Given the description of an element on the screen output the (x, y) to click on. 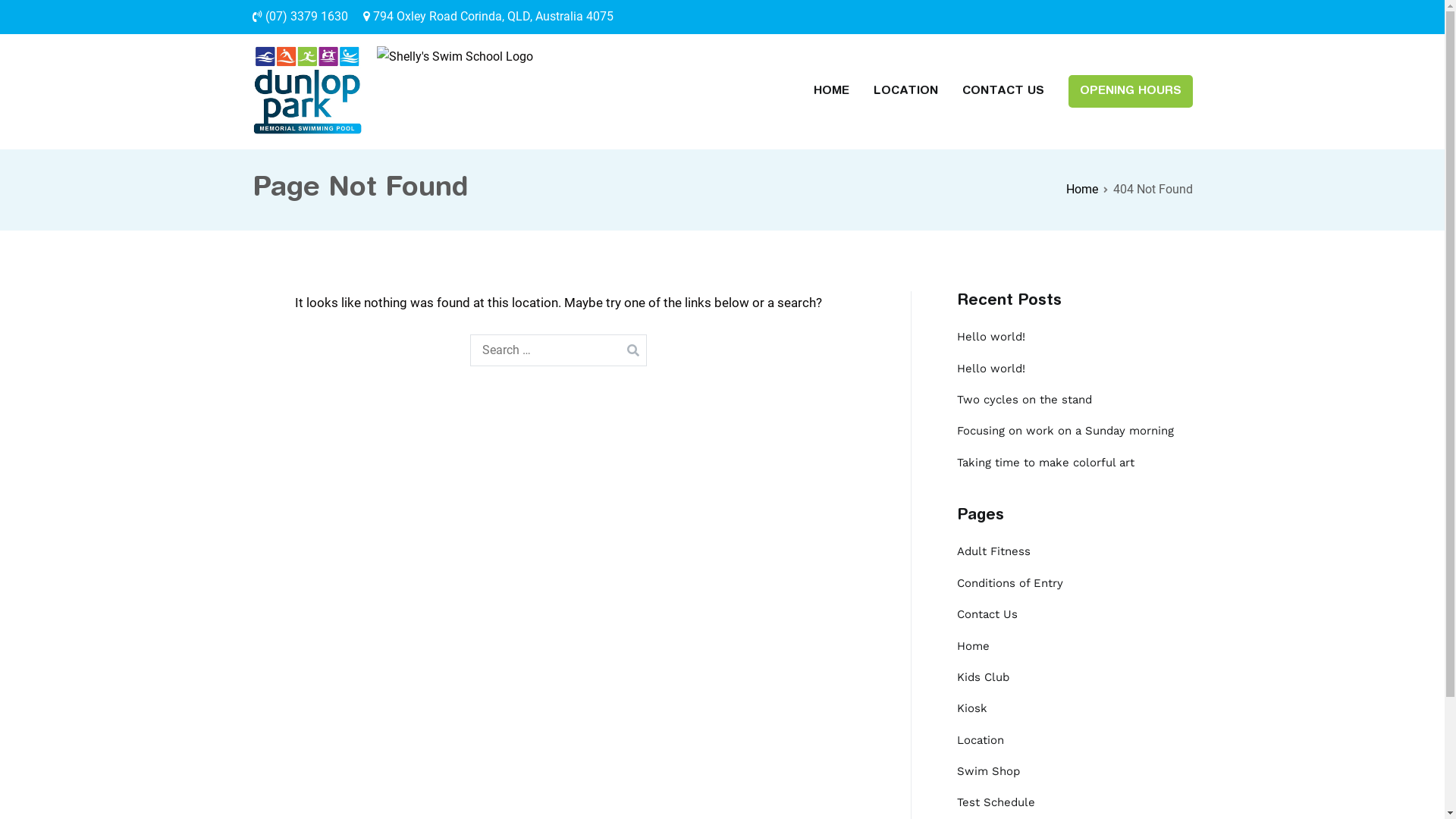
Home Element type: text (1082, 189)
LOCATION Element type: text (905, 91)
Hello world! Element type: text (991, 336)
Two cycles on the stand Element type: text (1024, 399)
Conditions of Entry Element type: text (1010, 583)
Location Element type: text (980, 740)
Home Element type: text (973, 645)
794 Oxley Road Corinda, QLD, Australia 4075 Element type: text (487, 16)
Contact Us Element type: text (987, 614)
Kiosk Element type: text (972, 708)
Kids Club Element type: text (983, 677)
Swim Shop Element type: text (988, 771)
Test Schedule Element type: text (996, 802)
Dunlop Park Element type: text (571, 100)
Search Element type: text (29, 14)
HOME Element type: text (830, 91)
Focusing on work on a Sunday morning Element type: text (1065, 430)
Taking time to make colorful art Element type: text (1045, 461)
OPENING HOURS Element type: text (1129, 91)
CONTACT US Element type: text (1002, 91)
Hello world! Element type: text (991, 367)
Adult Fitness Element type: text (993, 551)
(07) 3379 1630 Element type: text (299, 16)
